Given the description of an element on the screen output the (x, y) to click on. 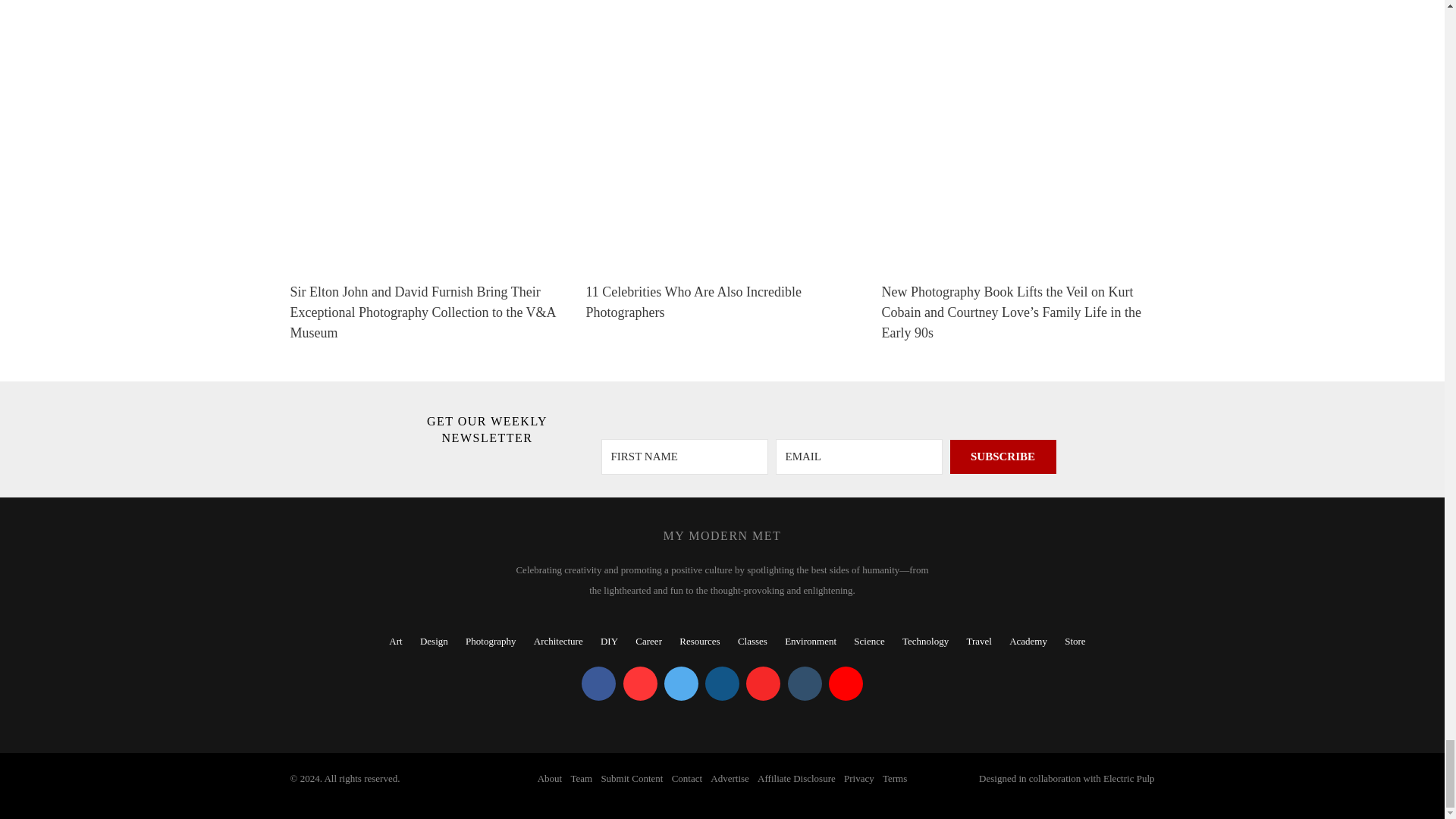
My Modern Met on YouTube (845, 683)
My Modern Met on Facebook (597, 683)
My Modern Met on Instagram (721, 683)
My Modern Met on Pinterest (640, 683)
My Modern Met on Tumblr (804, 683)
My Modern Met on Twitter (680, 683)
